Given the description of an element on the screen output the (x, y) to click on. 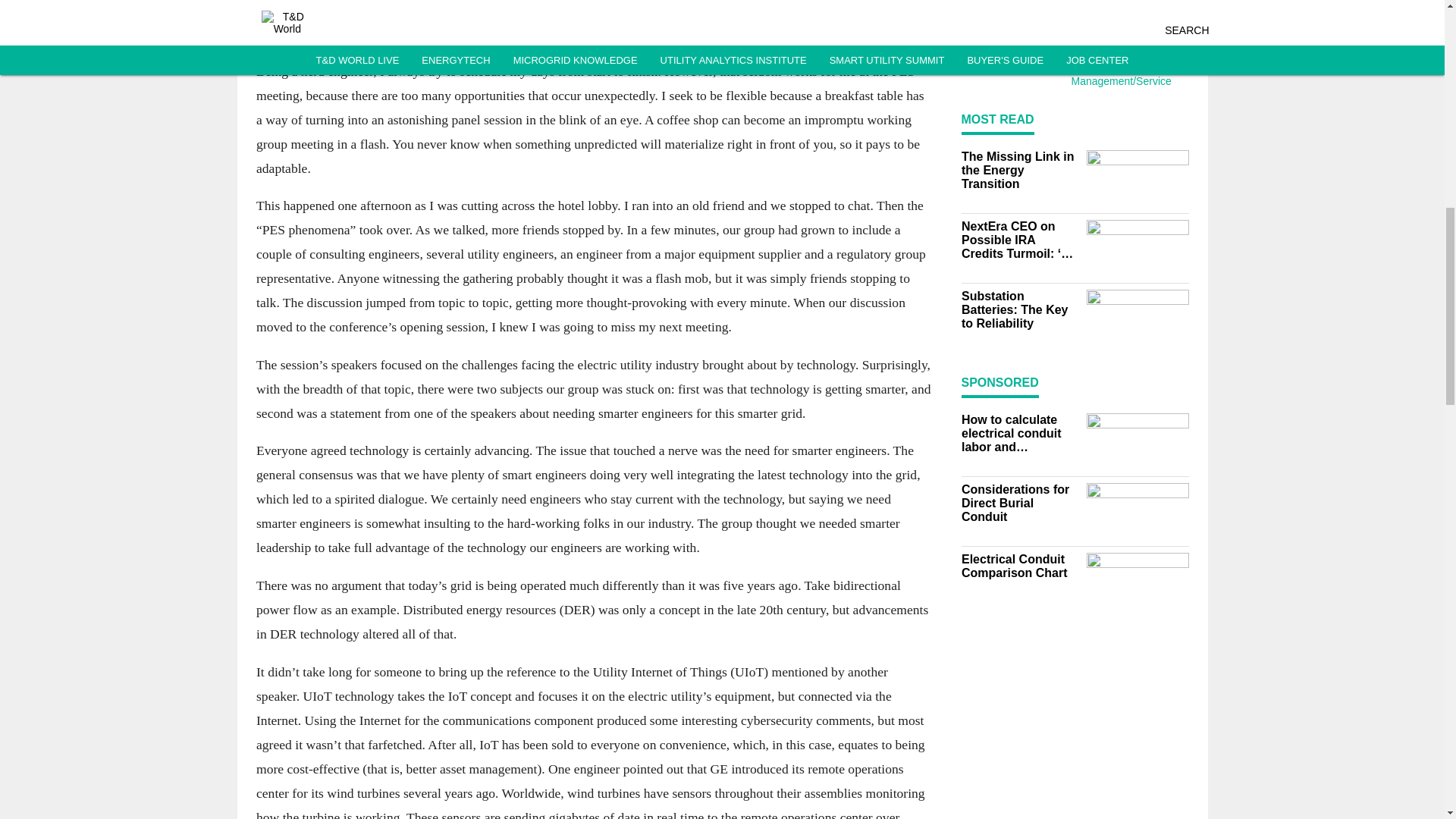
The Missing Link in the Energy Transition (1019, 169)
Dreamstime M 5328019 (1012, 18)
